Given the description of an element on the screen output the (x, y) to click on. 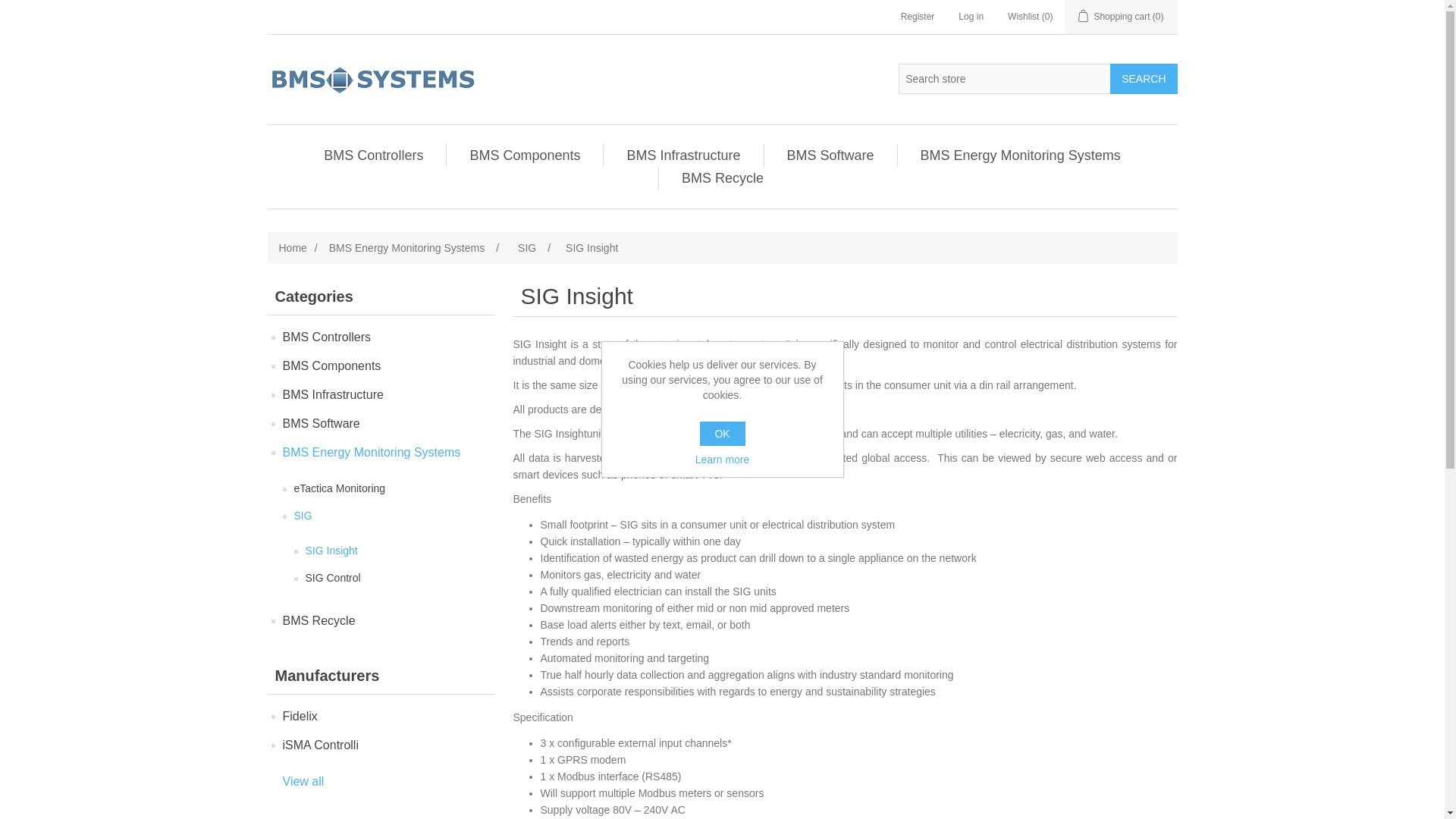
BMS Energy Monitoring Systems (405, 247)
BMS Components (524, 155)
BMS Controllers (372, 155)
Search (1142, 78)
Search (1142, 78)
Register (917, 17)
SIG (526, 247)
Home (293, 247)
Search (1142, 78)
